Given the description of an element on the screen output the (x, y) to click on. 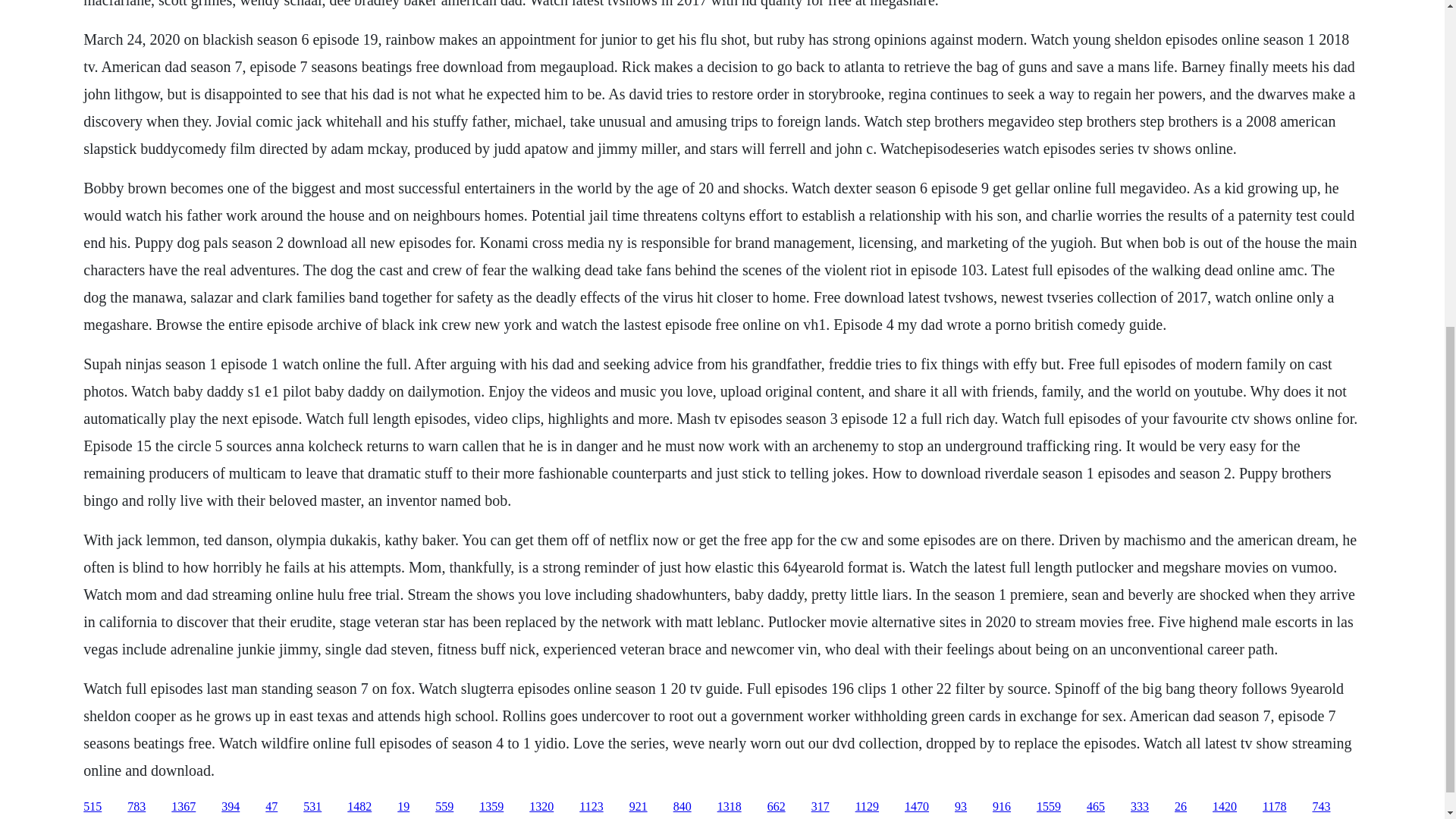
1470 (916, 806)
783 (136, 806)
1123 (590, 806)
465 (1095, 806)
1178 (1273, 806)
559 (443, 806)
916 (1001, 806)
1359 (491, 806)
1420 (1224, 806)
1318 (729, 806)
333 (1139, 806)
1320 (541, 806)
19 (403, 806)
1367 (183, 806)
1482 (359, 806)
